Given the description of an element on the screen output the (x, y) to click on. 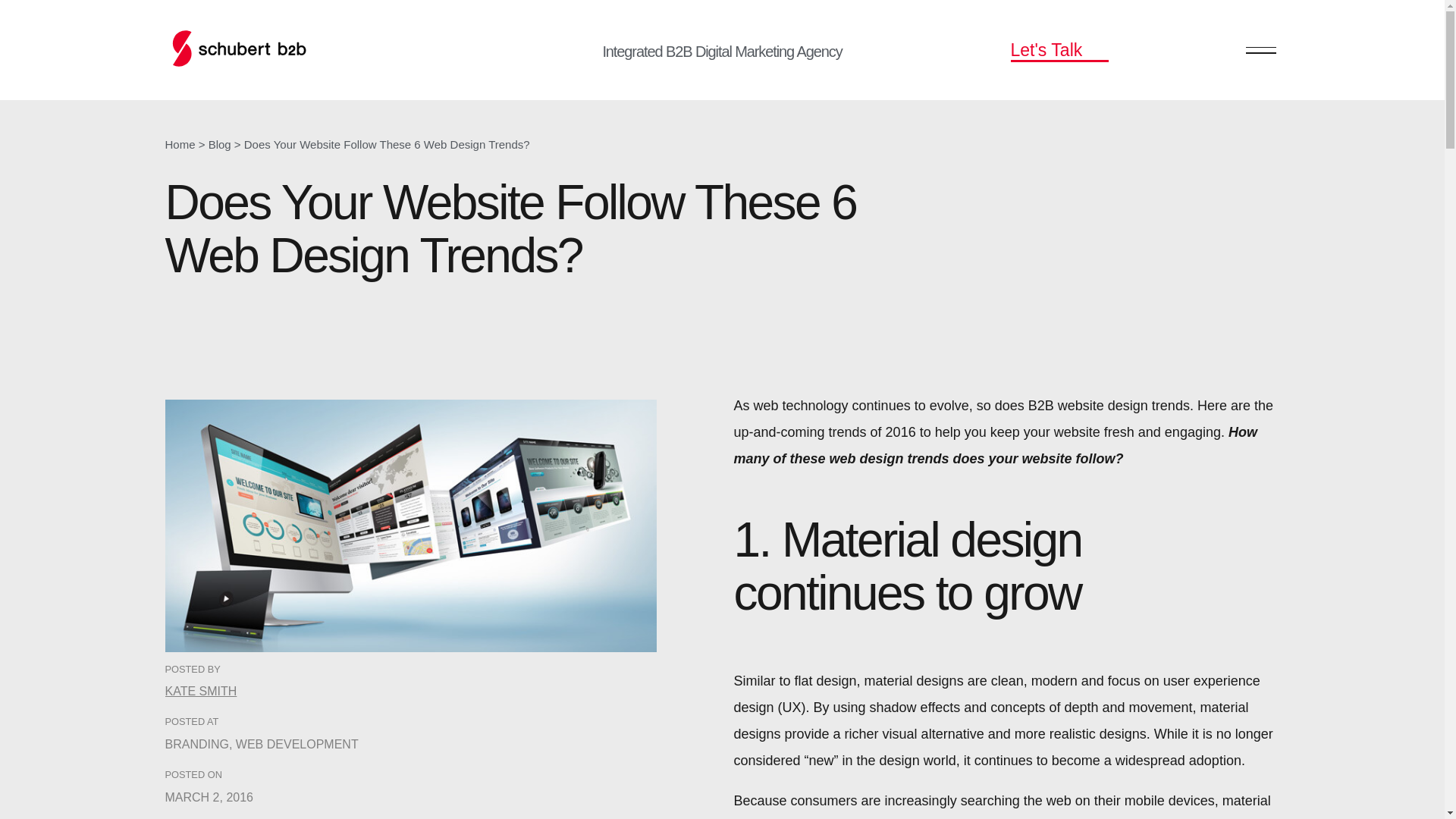
Home (180, 144)
KATE SMITH (201, 690)
MARCH 2, 2016 (209, 797)
WEB DEVELOPMENT (296, 744)
Go to Schubert b2b. (180, 144)
Let's Talk (1059, 49)
Blog (219, 144)
BRANDING (196, 744)
Go to Blog. (219, 144)
B2B website design (1087, 405)
